Given the description of an element on the screen output the (x, y) to click on. 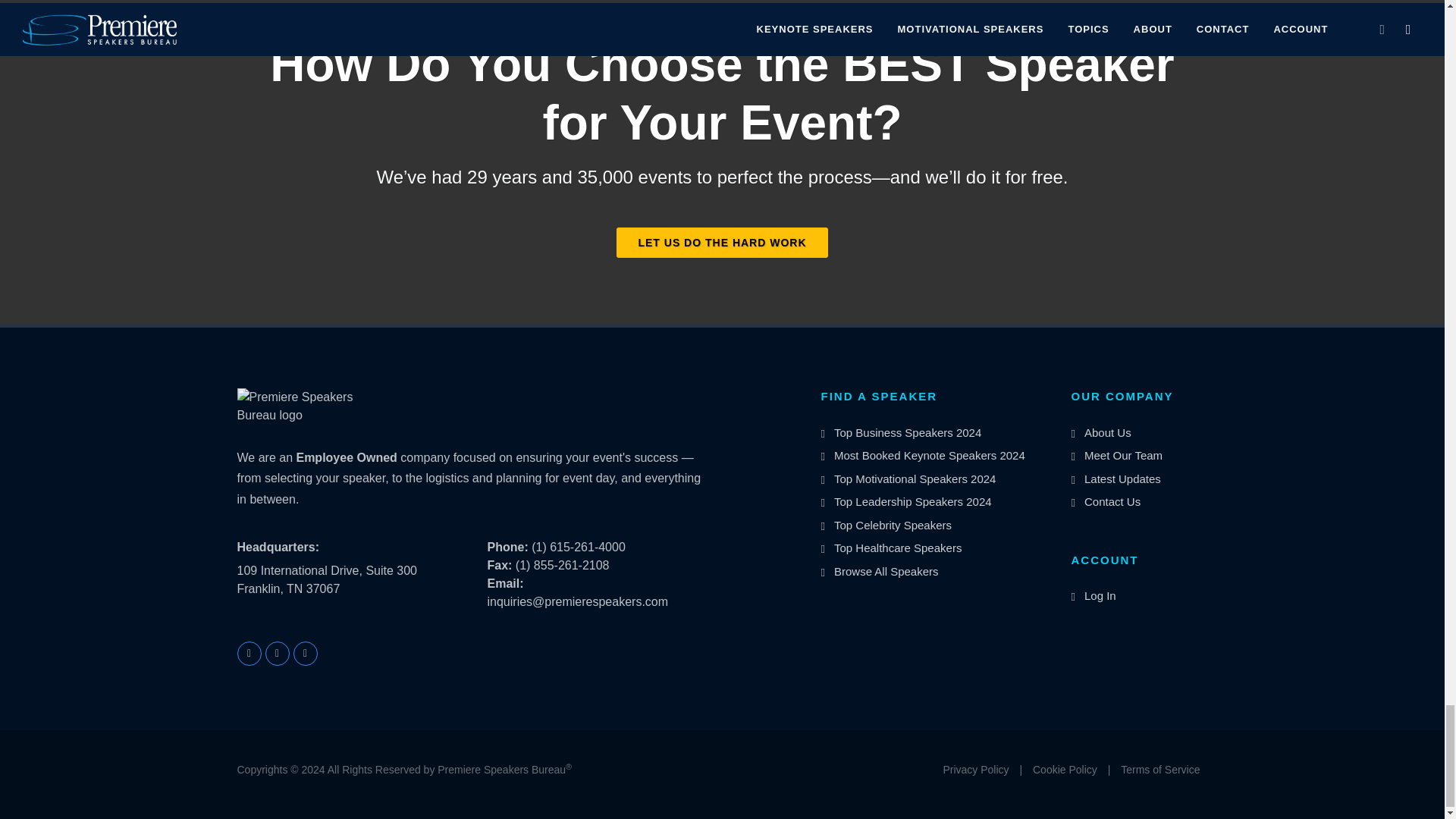
Email Address (504, 583)
Privacy Policy (975, 769)
Headquarters (276, 547)
Phone Number (506, 546)
Fax (499, 564)
Cookie Policy (1064, 769)
Terms of Service (1160, 769)
